Given the description of an element on the screen output the (x, y) to click on. 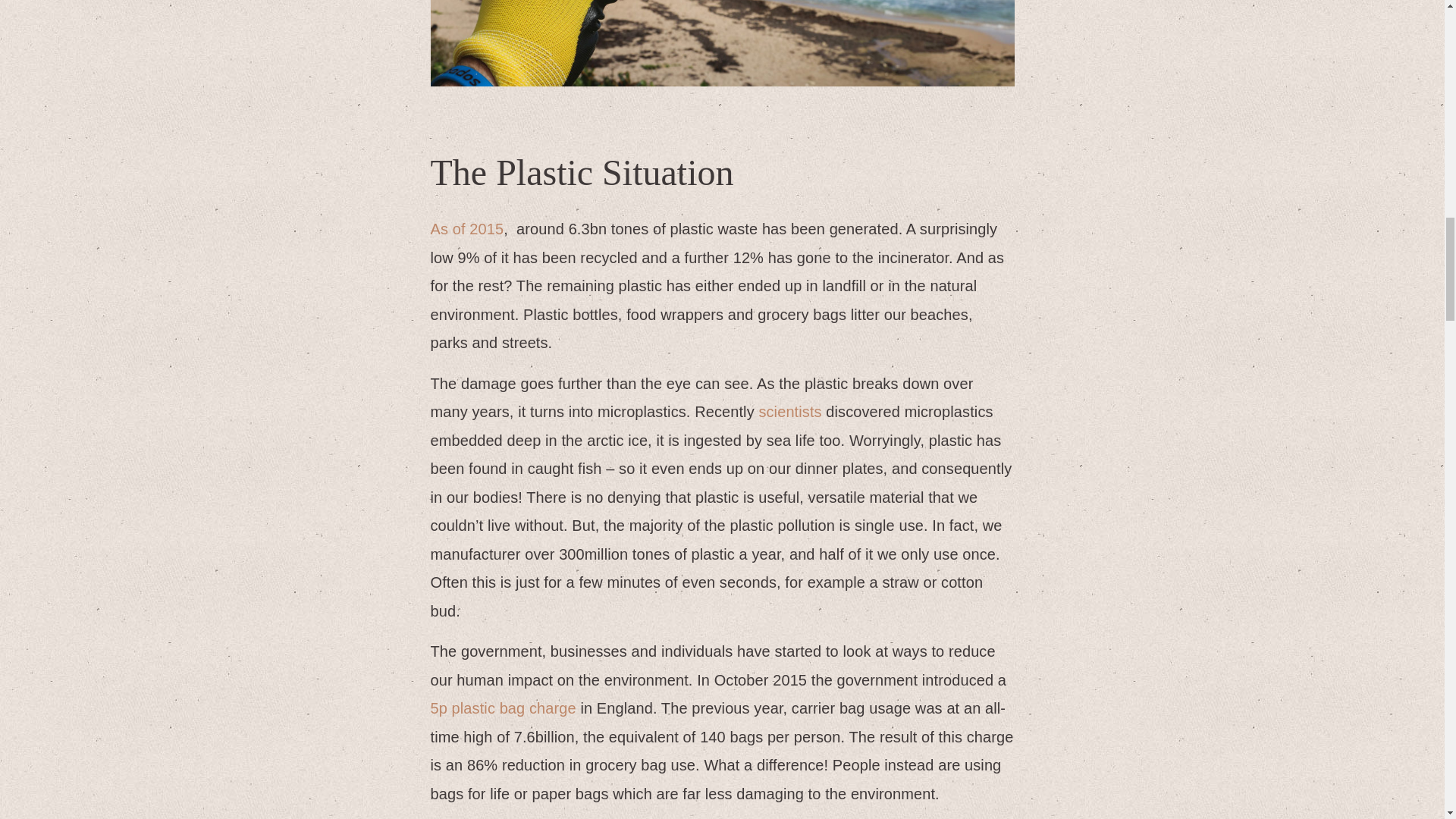
5p plastic bag charge (503, 708)
As of 2015 (466, 228)
plastic free vending beach cup (722, 43)
scientists (789, 411)
